Given the description of an element on the screen output the (x, y) to click on. 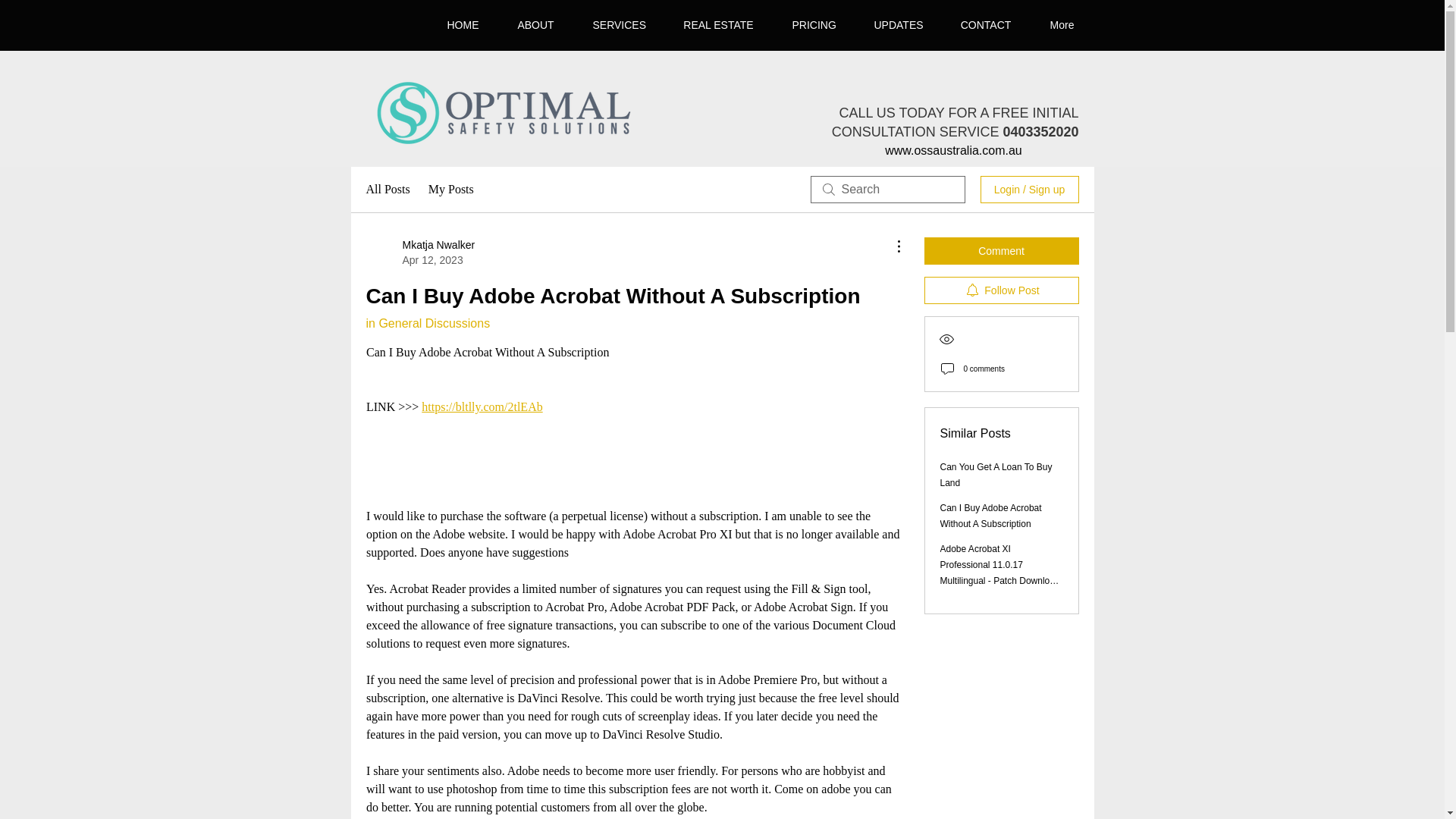
Can I Buy Adobe Acrobat Without A Subscription (991, 515)
Can You Get A Loan To Buy Land (996, 474)
CONTACT (986, 24)
in General Discussions (427, 323)
HOME (462, 24)
www.ossaustralia.com.au (953, 150)
UPDATES (899, 24)
PRICING (814, 24)
Follow Post (1000, 289)
SERVICES (618, 24)
